Given the description of an element on the screen output the (x, y) to click on. 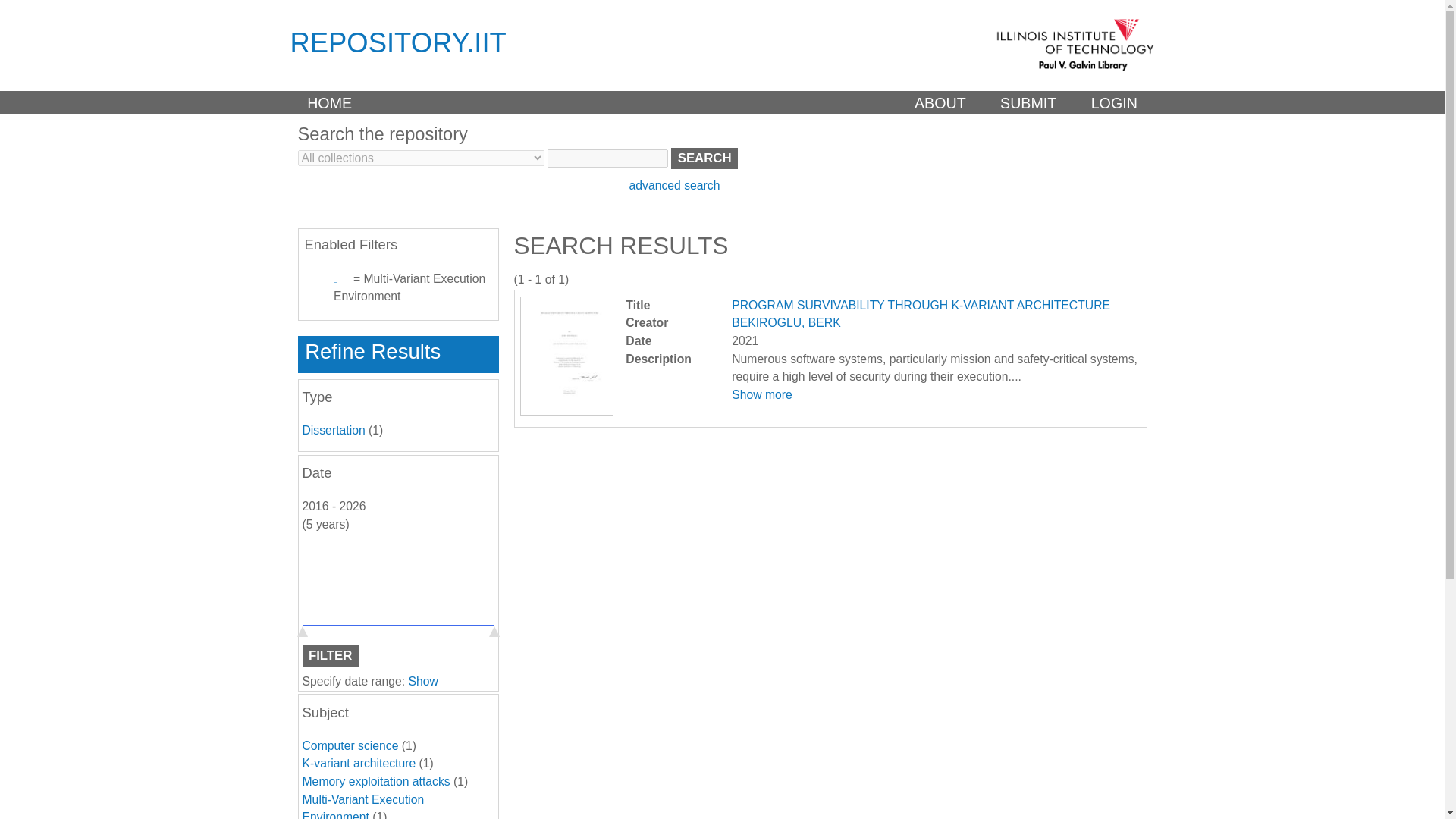
K-variant architecture (357, 762)
Show more (762, 394)
ABOUT (939, 101)
Memory exploitation attacks (375, 780)
SUBMIT (1028, 101)
Filter (329, 655)
search (704, 158)
REPOSITORY.IIT (397, 42)
BEKIROGLU, BERK (786, 322)
Computer science (349, 745)
Dissertation (333, 430)
Show (423, 680)
HOME (328, 101)
PROGRAM SURVIVABILITY THROUGH K-VARIANT ARCHITECTURE (920, 305)
PROGRAM SURVIVABILITY THROUGH K-VARIANT ARCHITECTURE (565, 410)
